Given the description of an element on the screen output the (x, y) to click on. 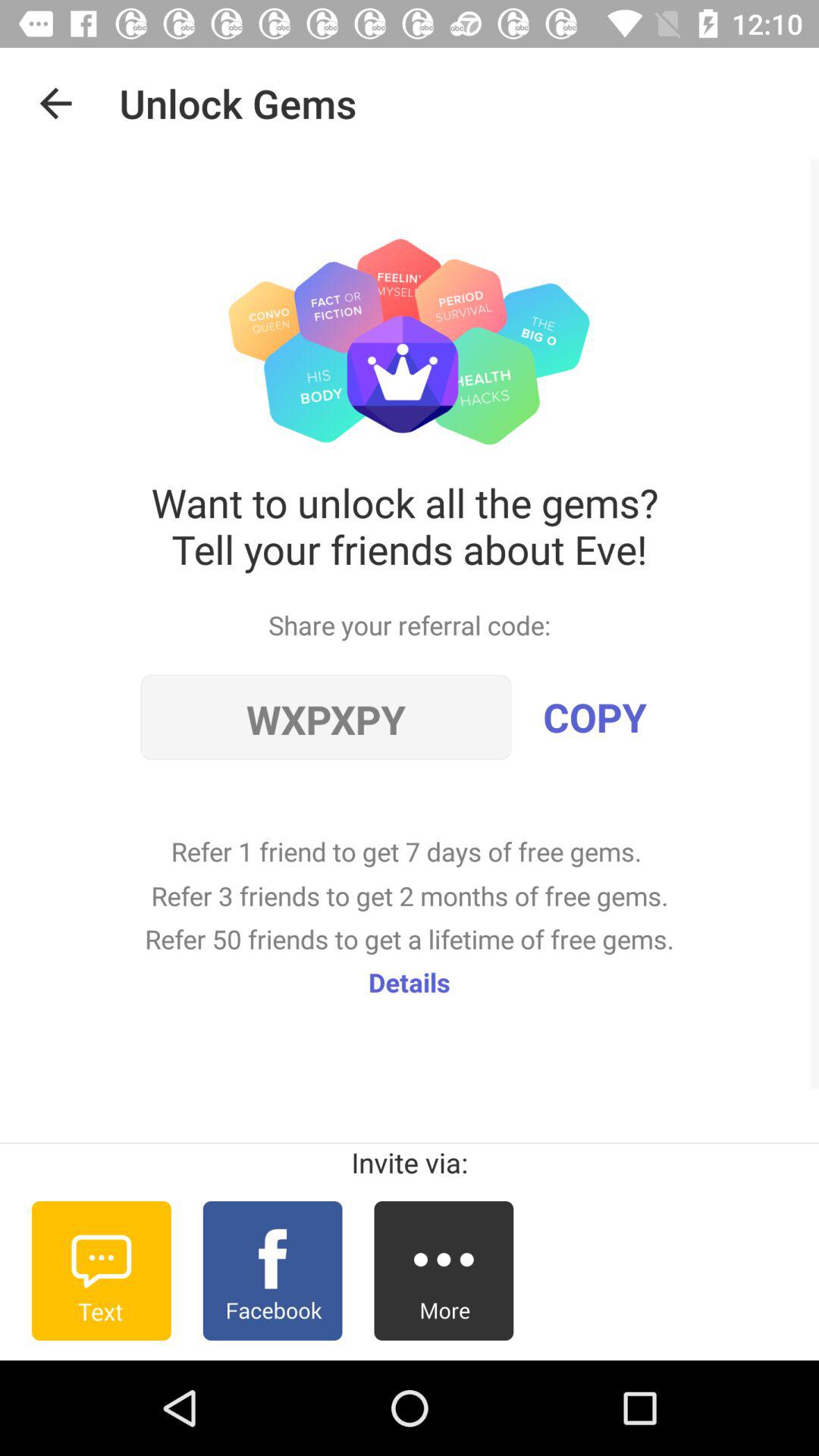
button to invite via facebook (272, 1270)
